Given the description of an element on the screen output the (x, y) to click on. 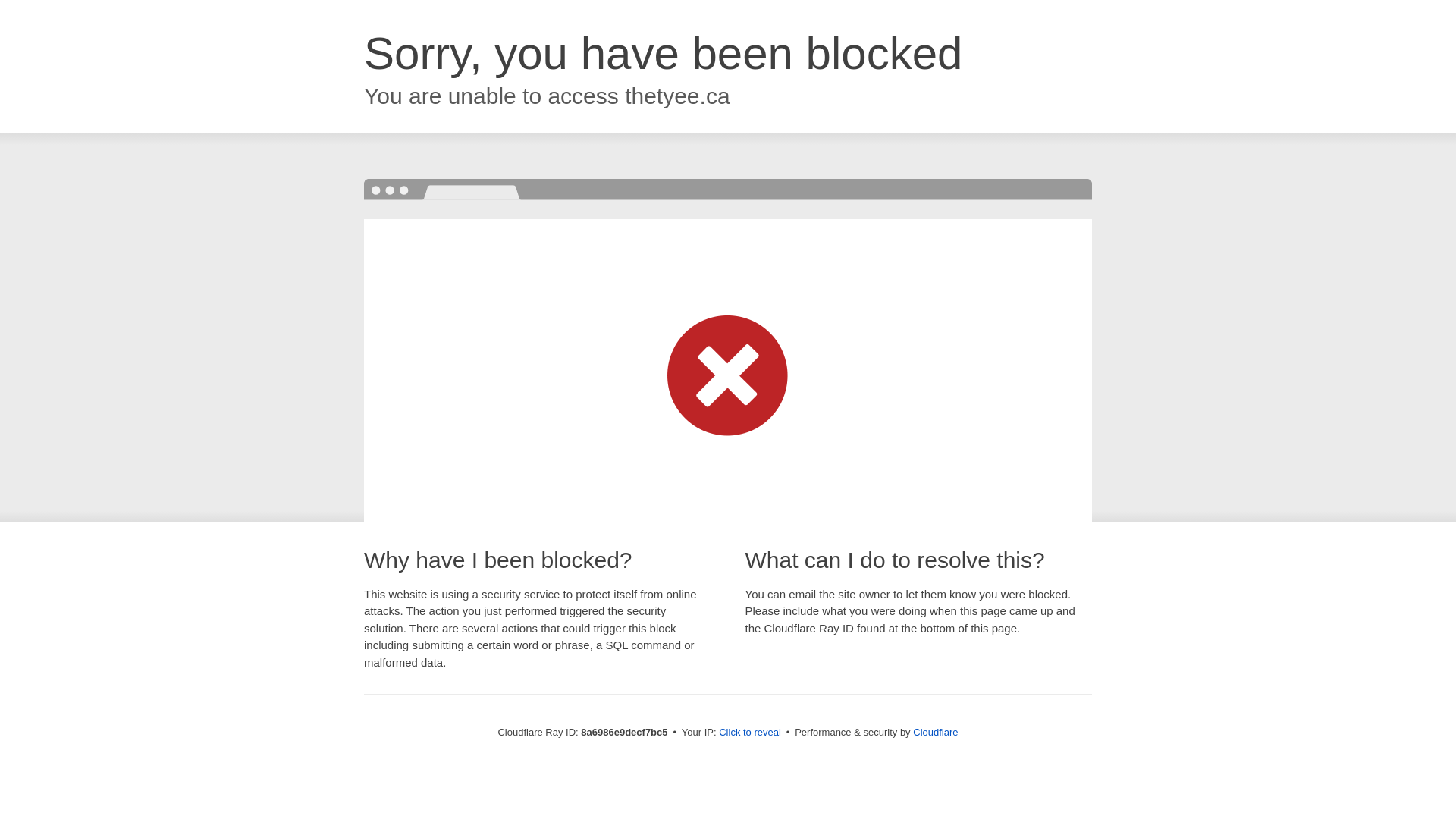
Click to reveal (749, 732)
Cloudflare (935, 731)
